Given the description of an element on the screen output the (x, y) to click on. 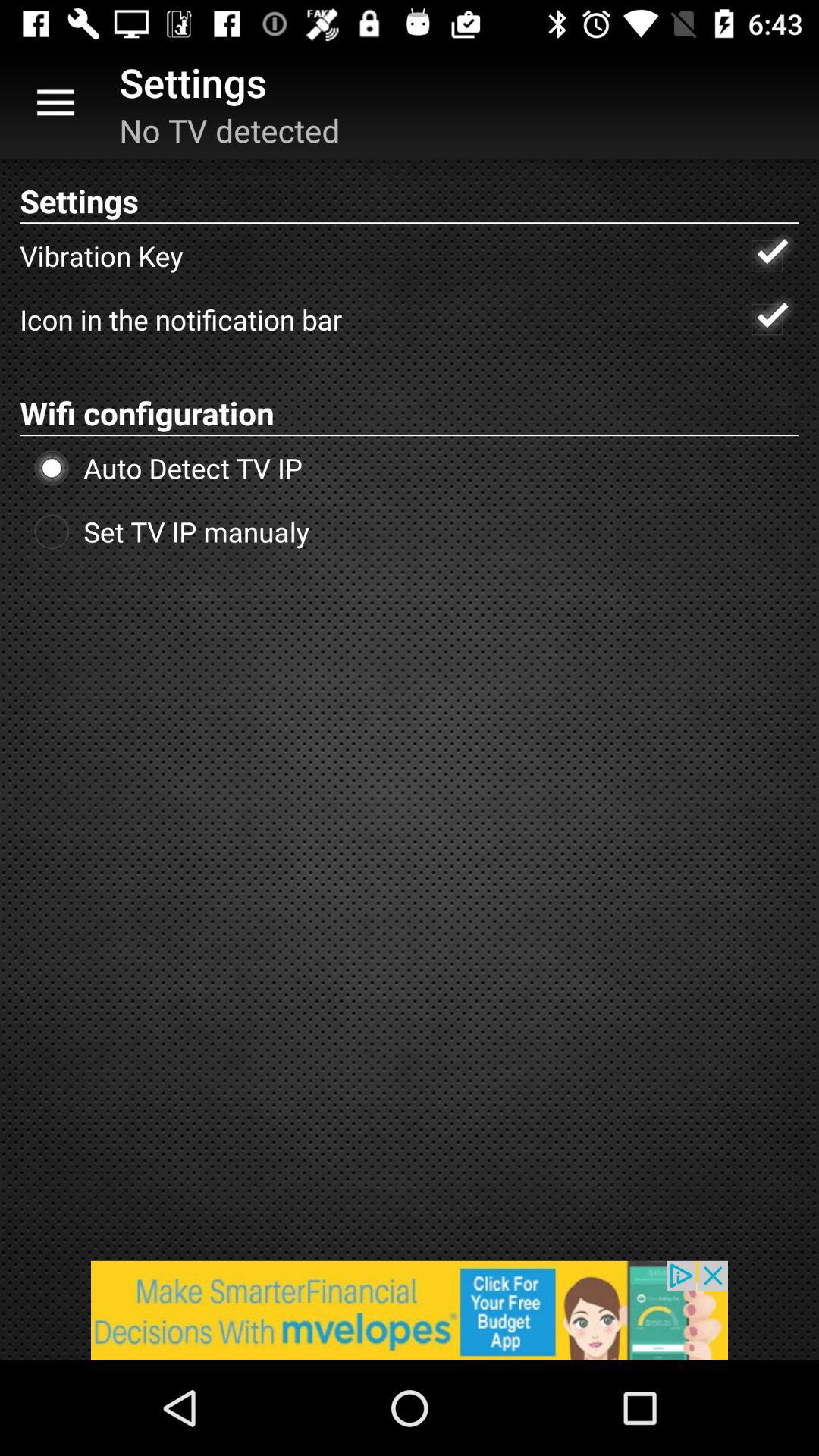
go to tick option (767, 319)
